Given the description of an element on the screen output the (x, y) to click on. 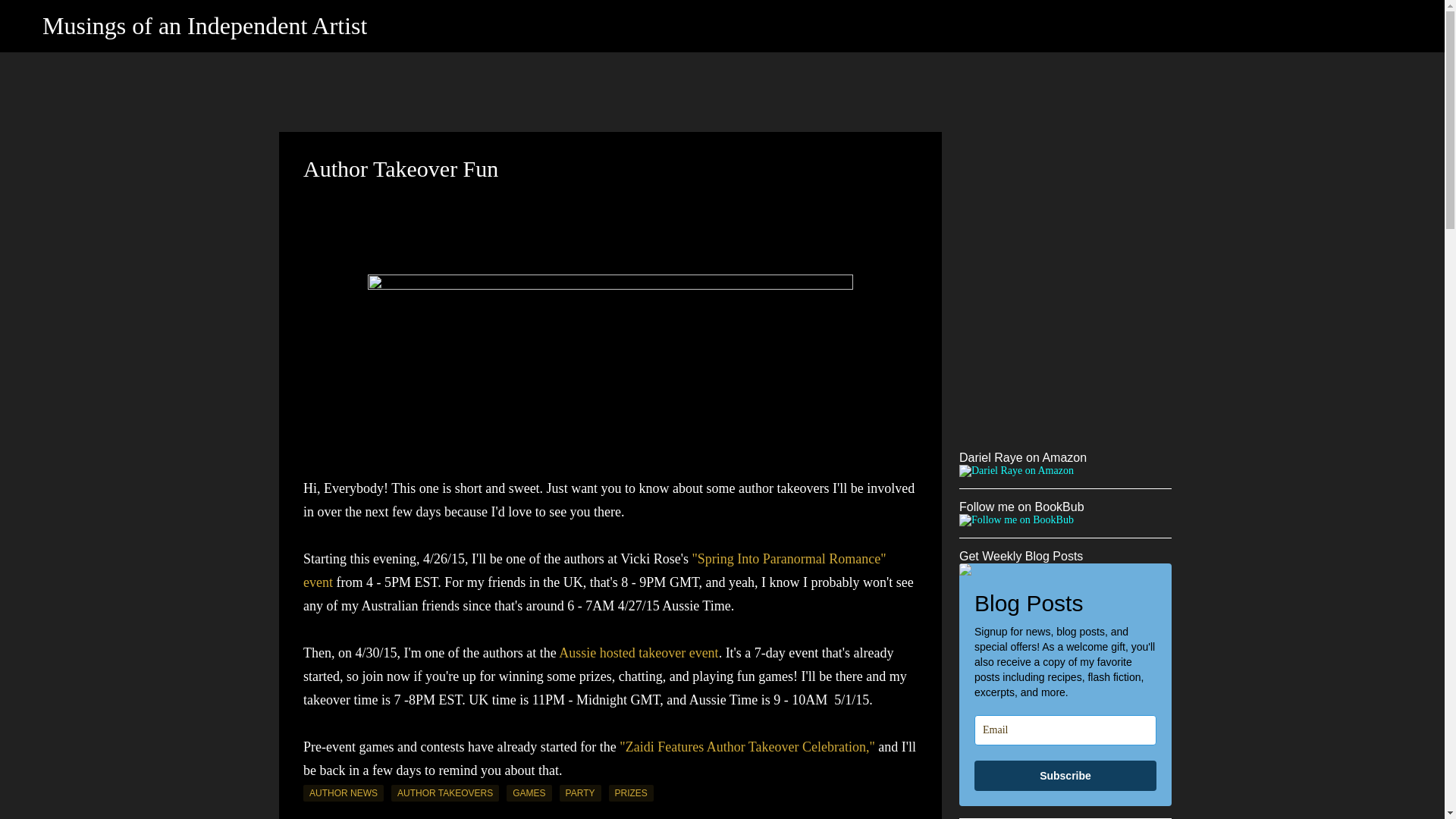
"Spring Into Paranormal Romance" event (594, 570)
PRIZES (630, 792)
Musings of an Independent Artist (204, 25)
Aussie hosted takeover event (638, 652)
Subscribe (1065, 775)
GAMES (528, 792)
PARTY (580, 792)
"Zaidi Features Author Takeover Celebration," (747, 746)
AUTHOR NEWS (343, 792)
AUTHOR TAKEOVERS (445, 792)
